Given the description of an element on the screen output the (x, y) to click on. 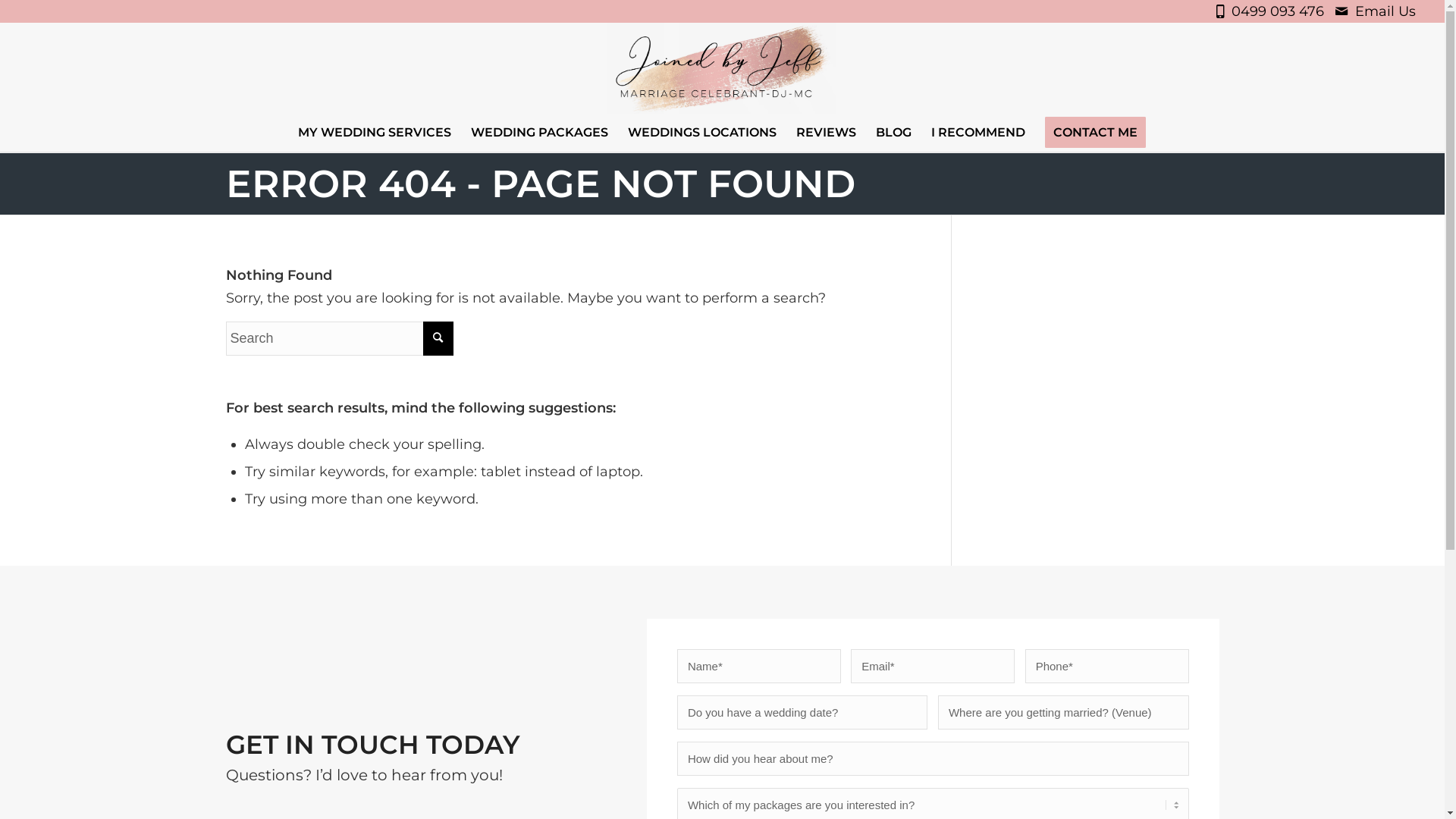
Email Us Element type: text (1385, 11)
REVIEWS Element type: text (826, 132)
WEDDINGS LOCATIONS Element type: text (702, 132)
WEDDING PACKAGES Element type: text (539, 132)
CONTACT ME Element type: text (1095, 132)
BLOG Element type: text (893, 132)
MY WEDDING SERVICES Element type: text (374, 132)
Screen_Shot_2023-03-02_at_2.40.07_pm Element type: hover (722, 67)
I RECOMMEND Element type: text (978, 132)
0499 093 476 Element type: text (1281, 11)
